Given the description of an element on the screen output the (x, y) to click on. 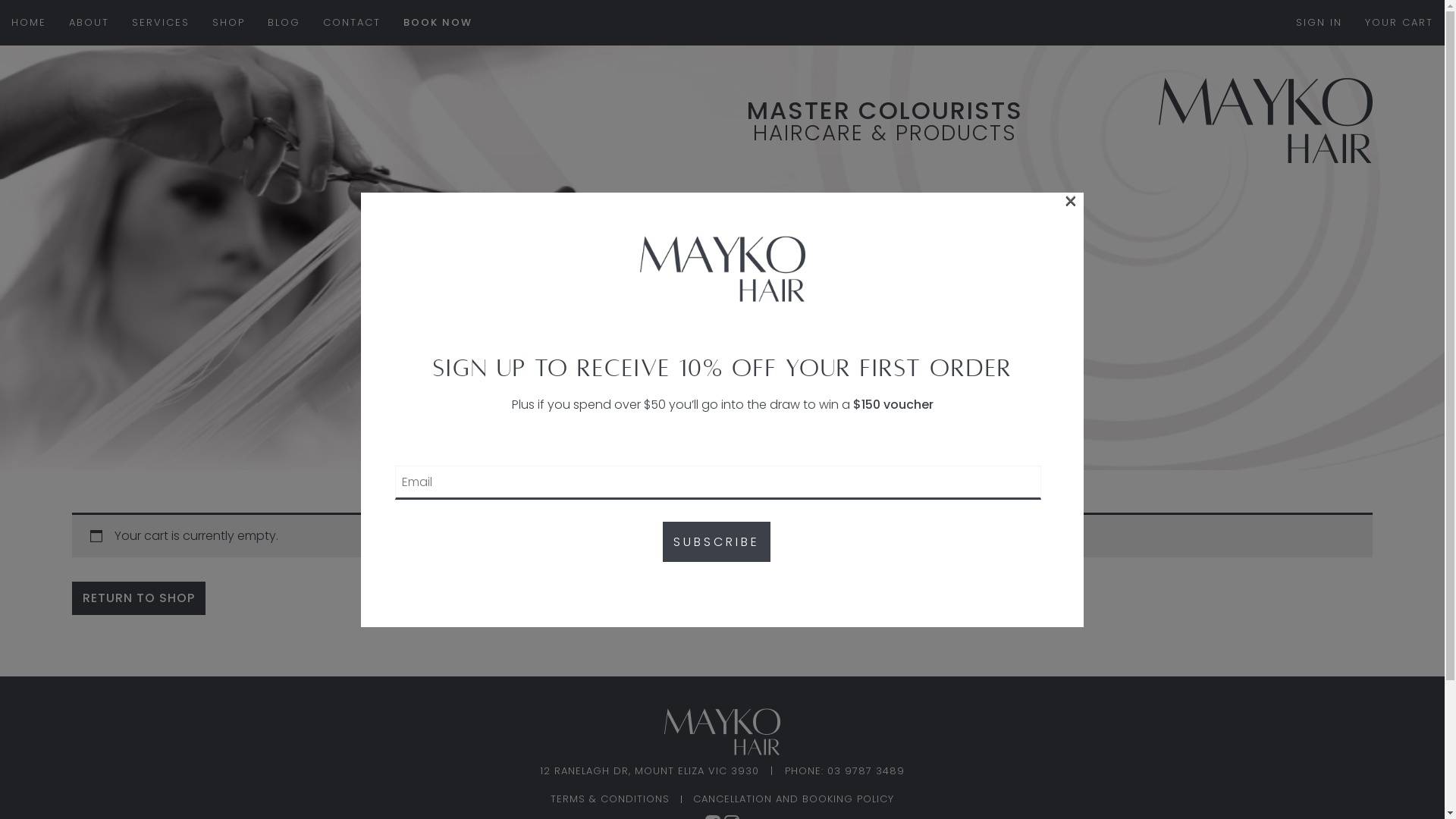
ABOUT Element type: text (88, 22)
SHOP Element type: text (228, 22)
YOUR CART Element type: text (1398, 22)
SIGN IN Element type: text (1318, 22)
BOOK NOW Element type: text (437, 22)
CONTACT Element type: text (351, 22)
HOME Element type: text (28, 22)
SERVICES Element type: text (160, 22)
RETURN TO SHOP Element type: text (138, 598)
CANCELLATION AND BOOKING POLICY Element type: text (793, 799)
Subscribe Element type: text (716, 540)
BLOG Element type: text (283, 22)
TERMS & CONDITIONS Element type: text (609, 799)
